Given the description of an element on the screen output the (x, y) to click on. 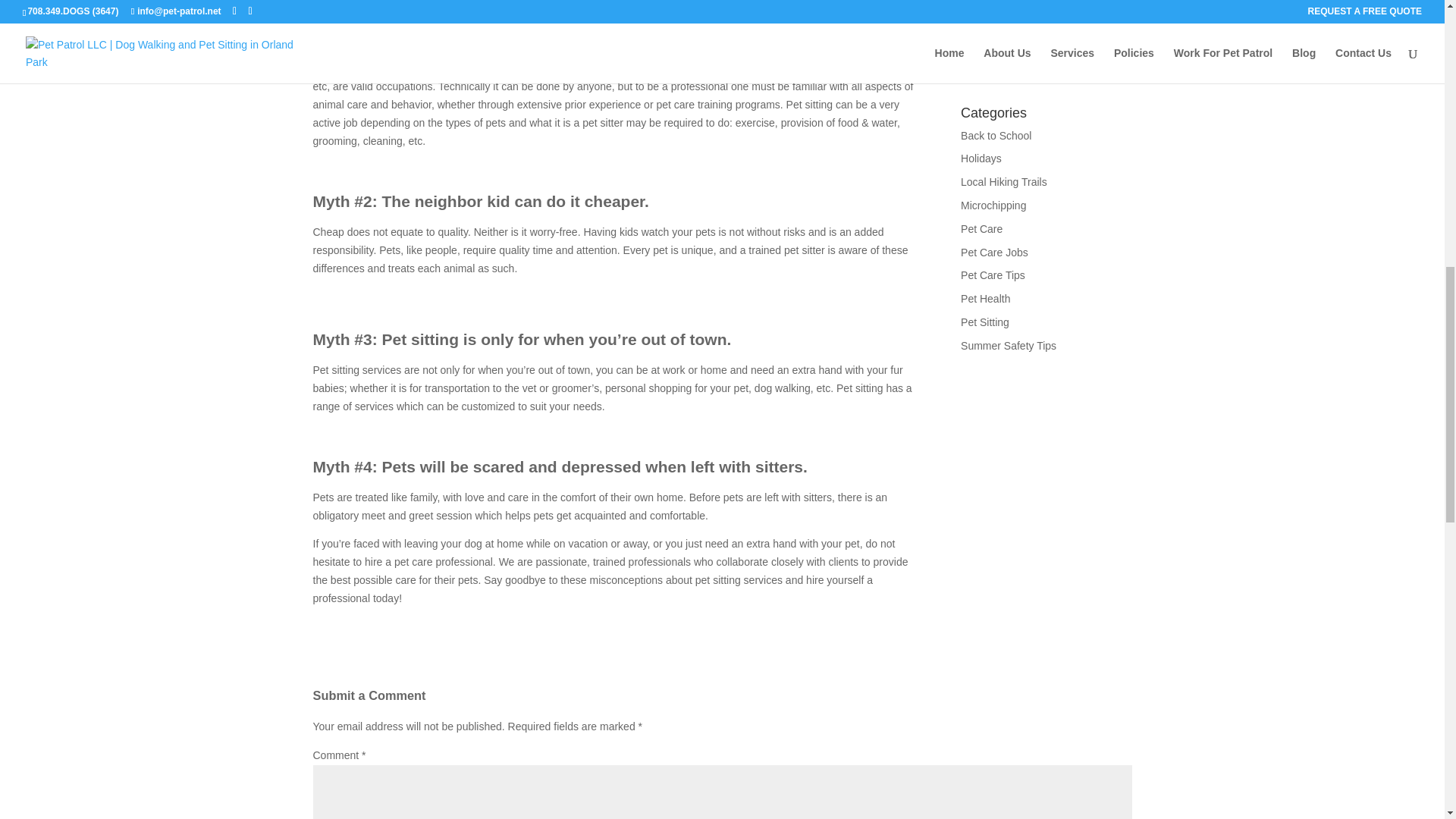
April 2022 (984, 73)
Pet Care (981, 228)
June 2022 (985, 26)
Microchipping (993, 205)
May 2022 (983, 50)
Holidays (980, 158)
Local Hiking Trails (1003, 182)
July 2022 (983, 4)
Back to School (995, 135)
Pet Care Jobs (993, 252)
